Given the description of an element on the screen output the (x, y) to click on. 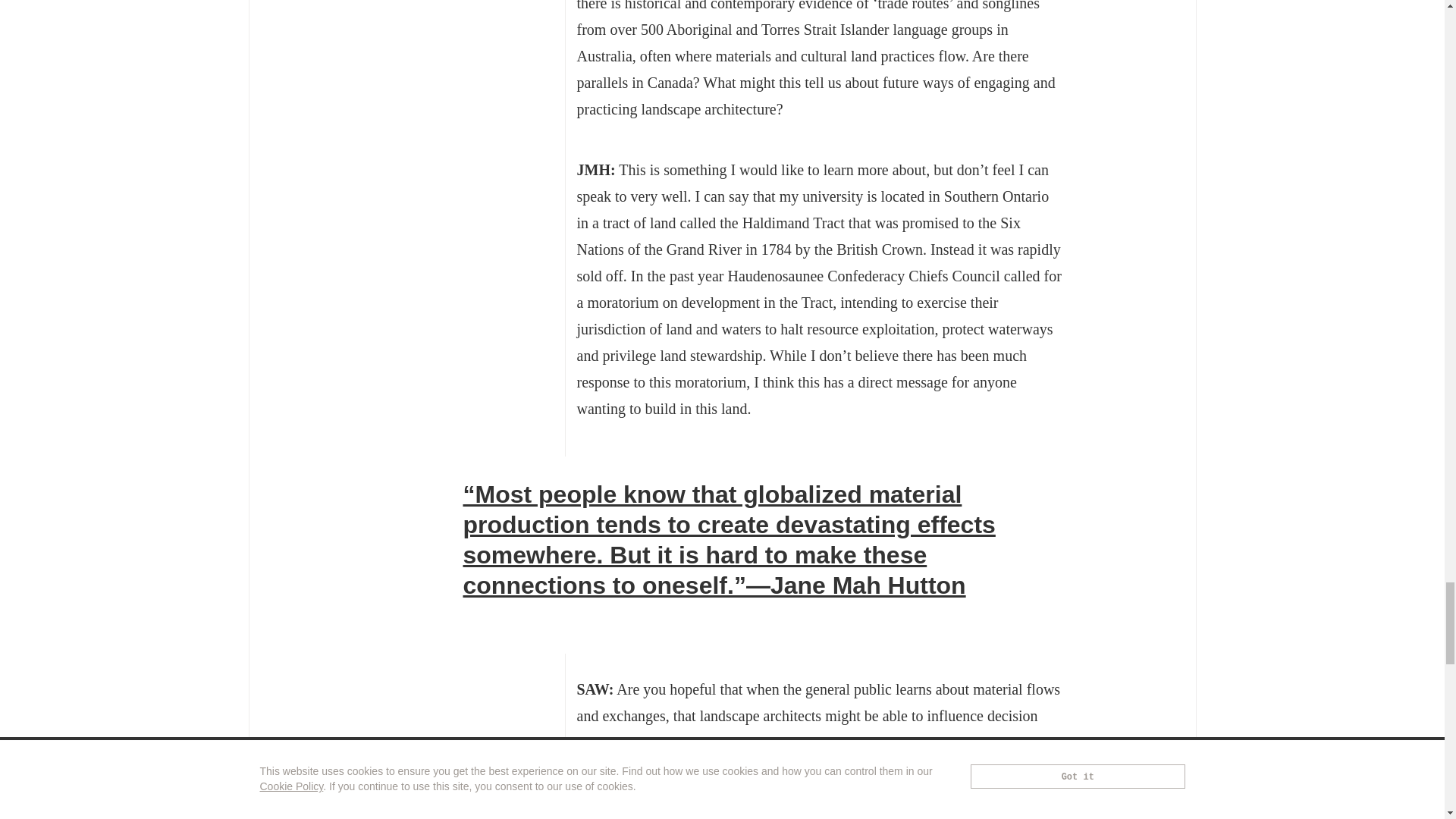
twitter (469, 617)
